Given the description of an element on the screen output the (x, y) to click on. 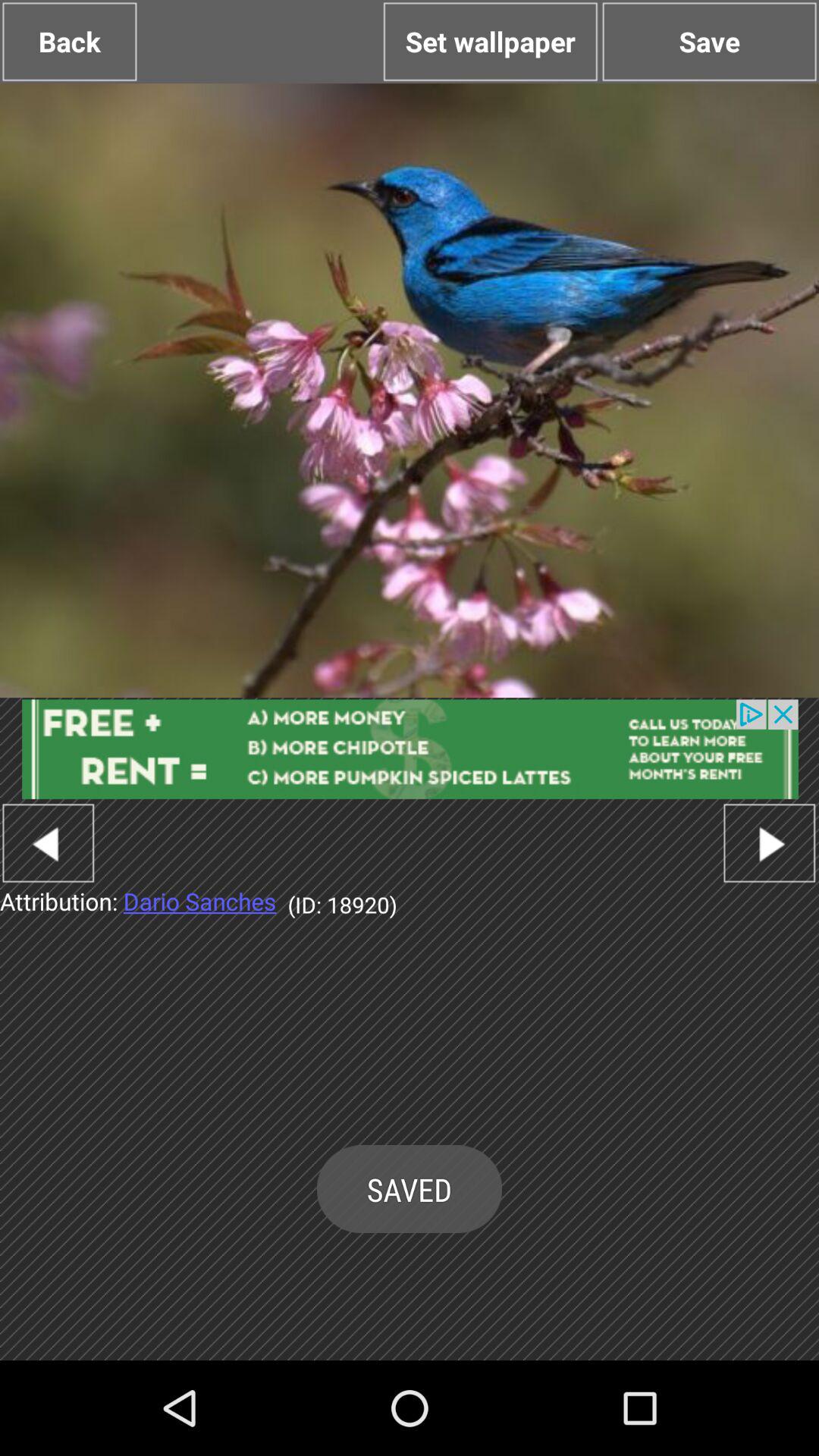
go to back (48, 842)
